Given the description of an element on the screen output the (x, y) to click on. 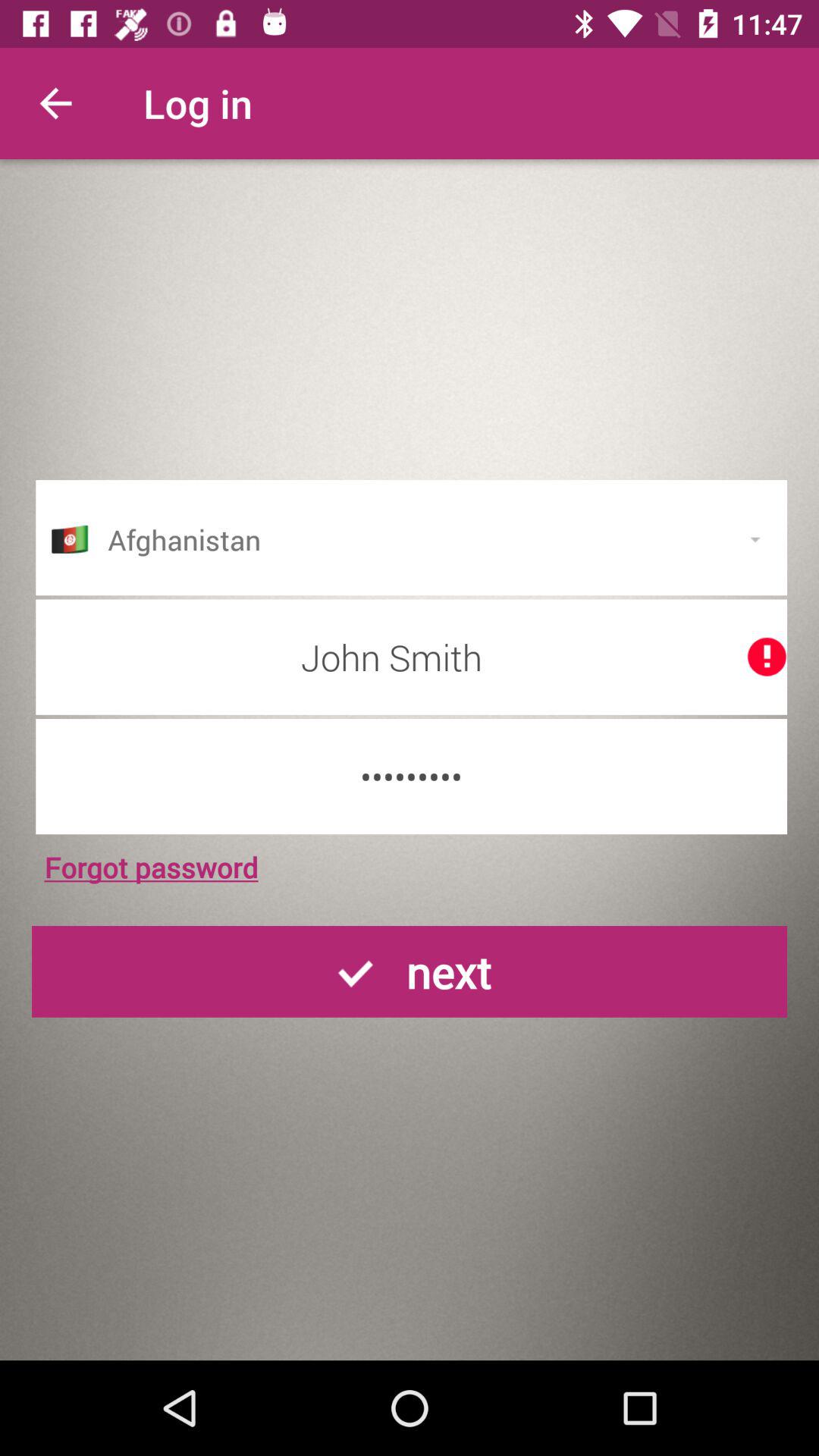
click icon below afghanistan item (411, 657)
